Given the description of an element on the screen output the (x, y) to click on. 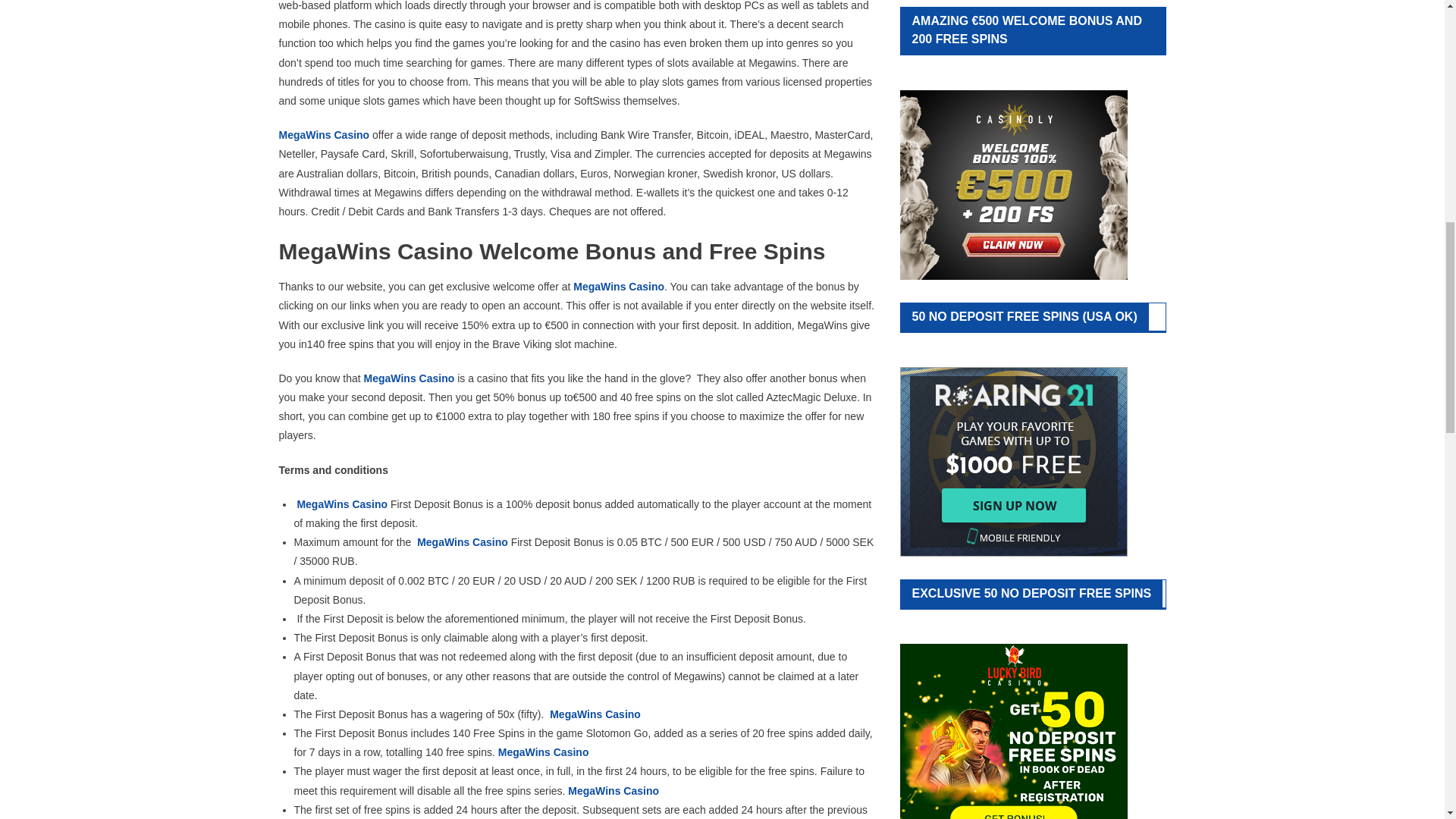
MegaWins Casino (342, 503)
MegaWins Casino (595, 714)
MegaWins Casino (618, 286)
MegaWins Casino (543, 752)
MegaWins Casino (409, 378)
MegaWins Casino (613, 790)
MegaWins Casino (462, 541)
MegaWins Casino (324, 134)
